Given the description of an element on the screen output the (x, y) to click on. 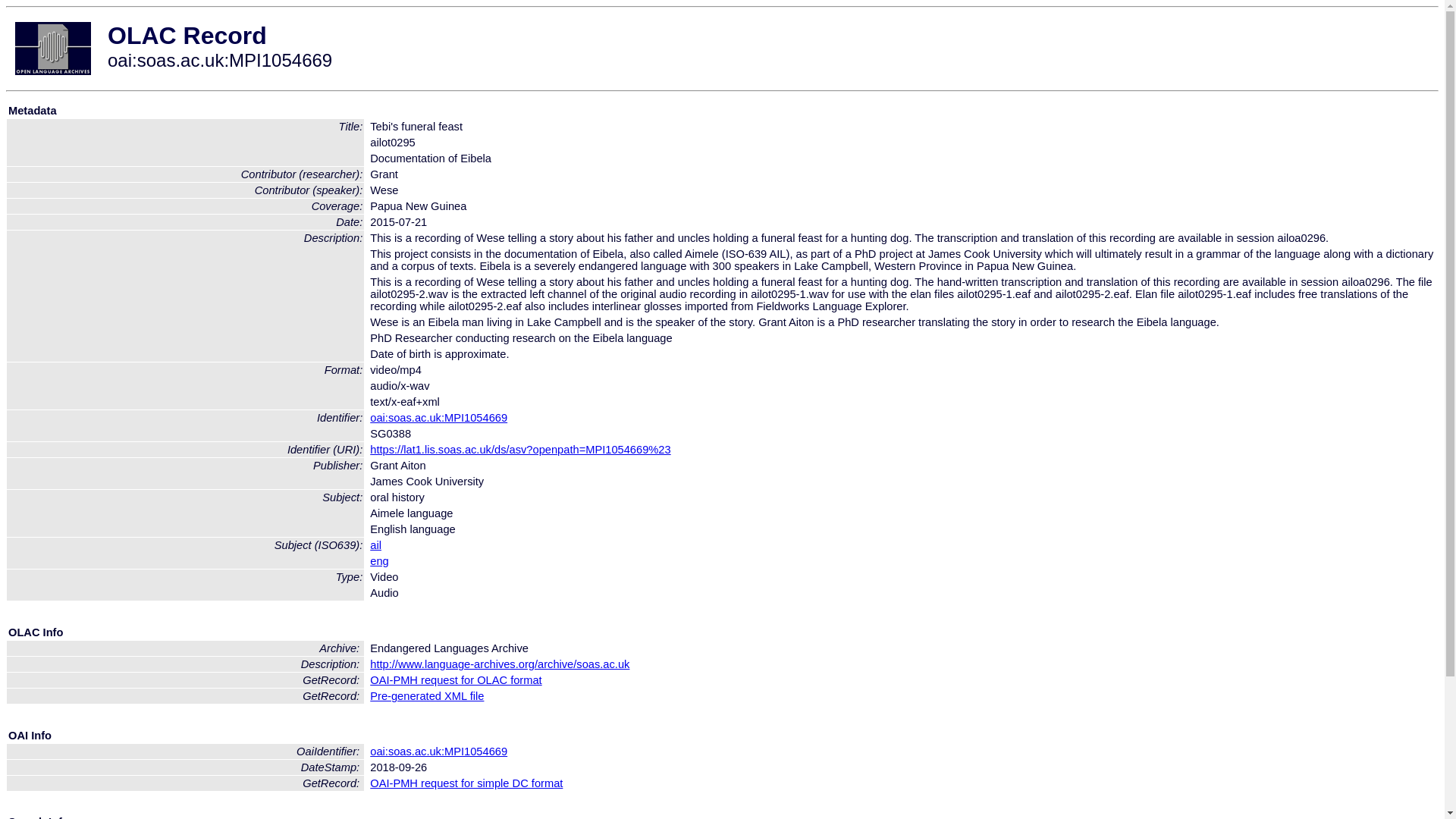
oai:soas.ac.uk:MPI1054669 (437, 751)
oai:soas.ac.uk:MPI1054669 (437, 417)
Pre-generated XML file (426, 695)
OAI-PMH request for simple DC format (465, 783)
OAI-PMH request for OLAC format (455, 680)
ail (375, 544)
eng (378, 561)
